Given the description of an element on the screen output the (x, y) to click on. 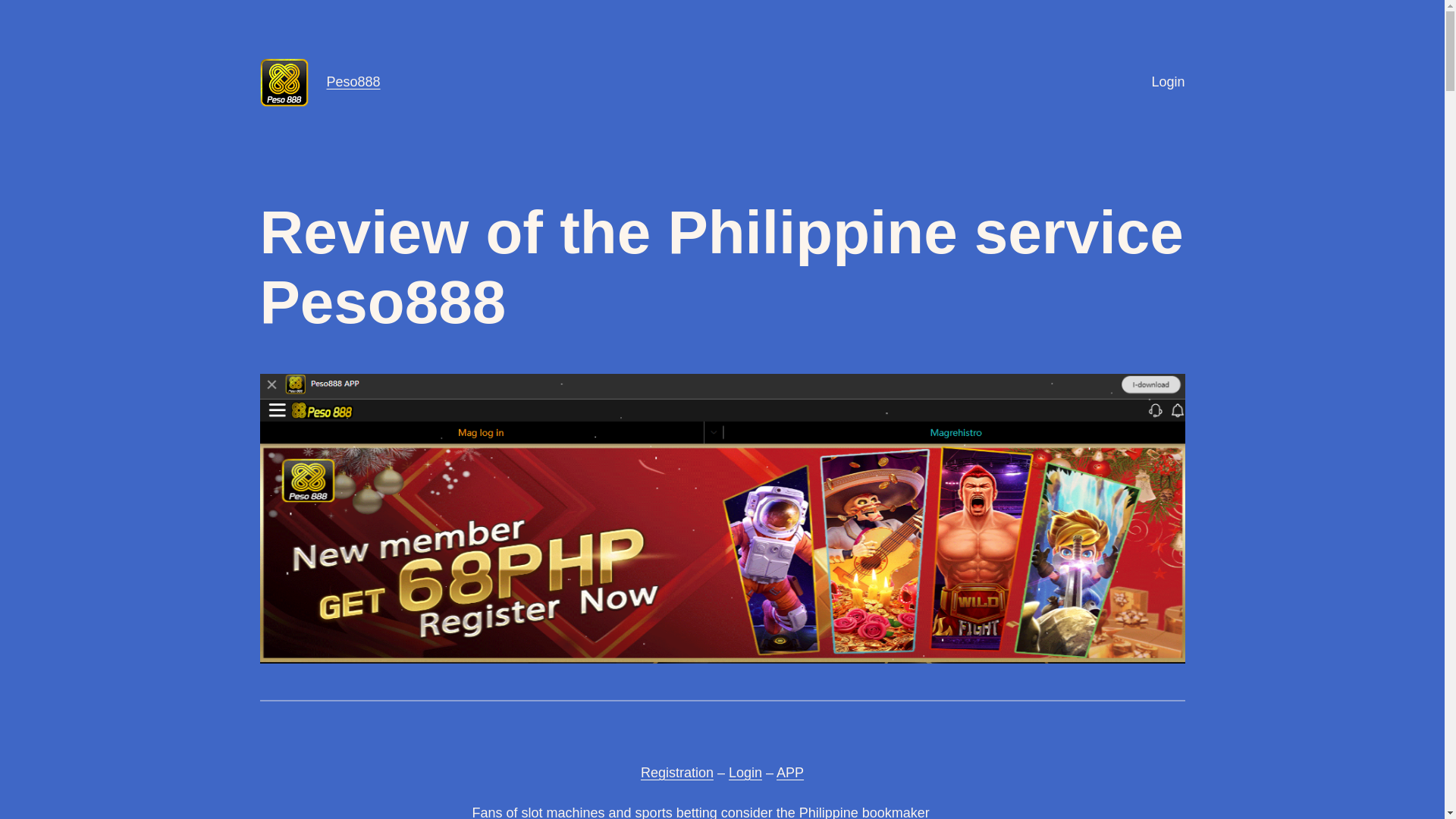
Peso888 (353, 81)
Login (745, 772)
Login (1168, 82)
APP (789, 772)
Registration (676, 772)
